Given the description of an element on the screen output the (x, y) to click on. 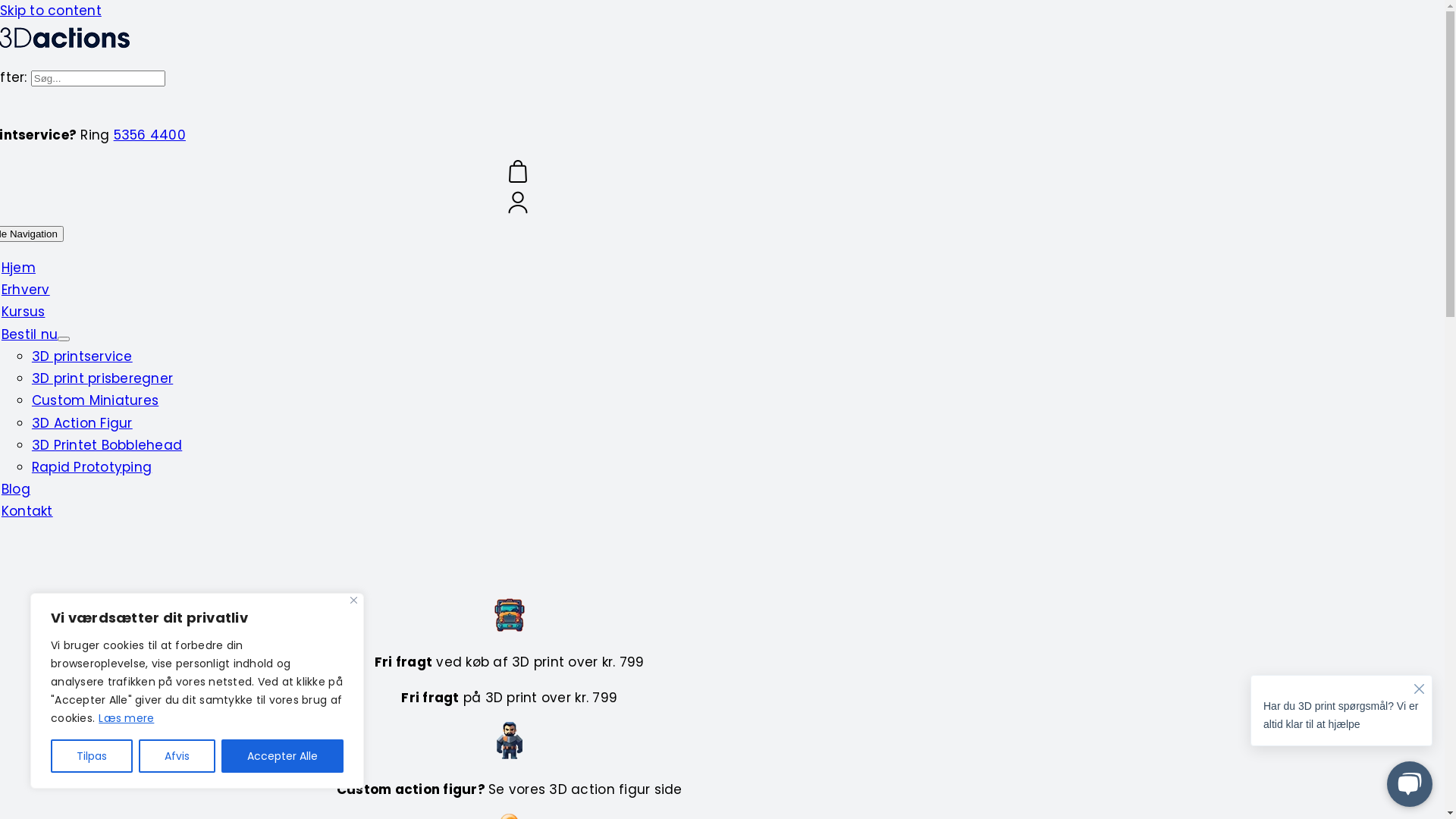
3D printservice Element type: text (81, 356)
Accepter Alle Element type: text (282, 755)
Kursus Element type: text (23, 311)
3D print prisberegner Element type: text (101, 378)
truck_front Element type: hover (509, 614)
3D Printet Bobblehead Element type: text (106, 445)
5356 4400 Element type: text (149, 134)
action_icon Element type: hover (509, 740)
Kontakt Element type: text (27, 511)
Custom Miniatures Element type: text (94, 400)
Tilpas Element type: text (91, 755)
Skip to content Element type: text (50, 10)
Bestil nu Element type: text (29, 334)
Rapid Prototyping Element type: text (91, 467)
3D Action Figur Element type: text (81, 423)
Erhverv Element type: text (25, 289)
Blog Element type: text (15, 489)
Afvis Element type: text (176, 755)
Hjem Element type: text (18, 267)
